Given the description of an element on the screen output the (x, y) to click on. 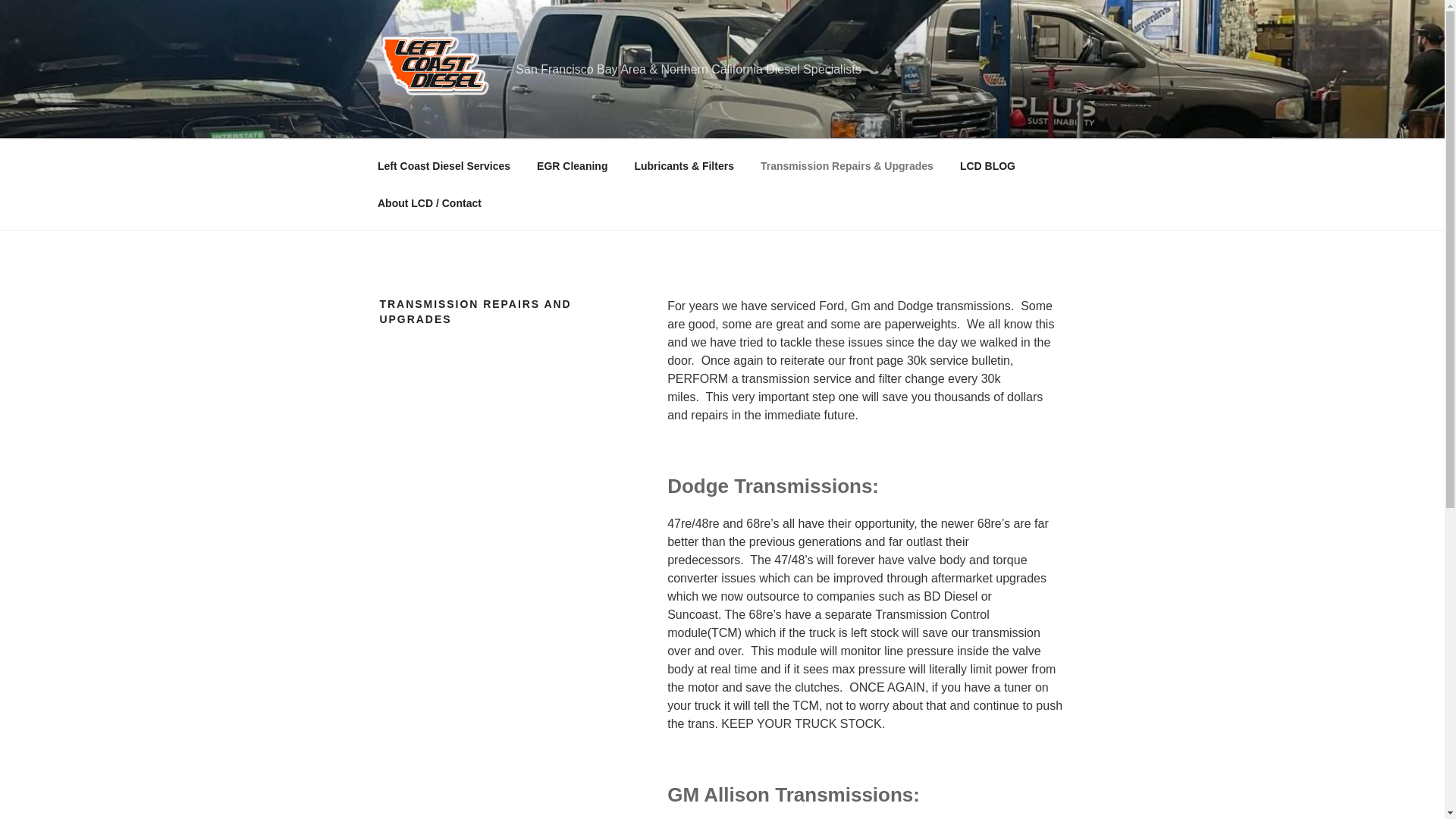
LCD BLOG (986, 165)
Left Coast Diesel Services (443, 165)
EGR Cleaning (572, 165)
